Given the description of an element on the screen output the (x, y) to click on. 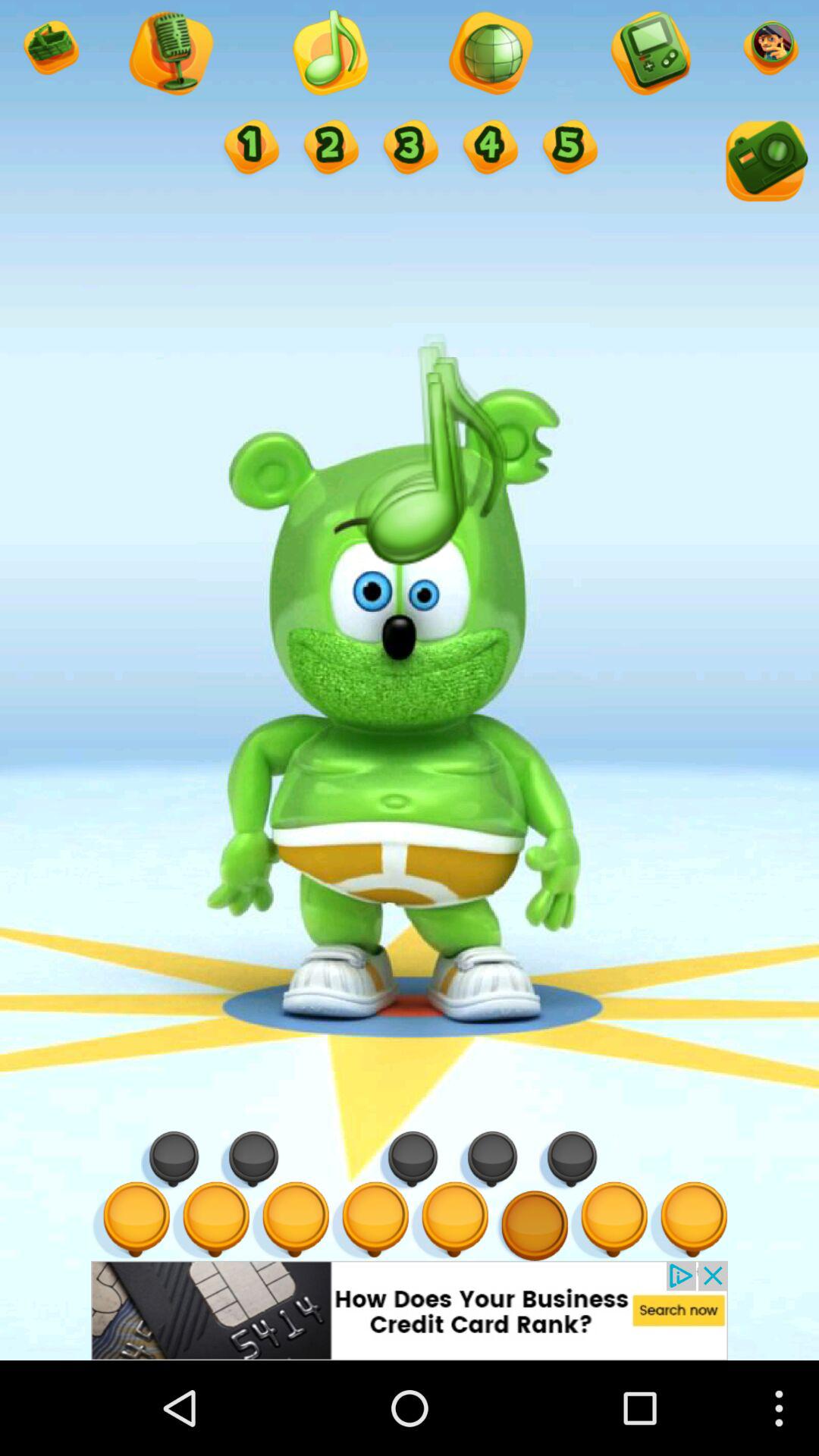
click the basket (49, 49)
